Given the description of an element on the screen output the (x, y) to click on. 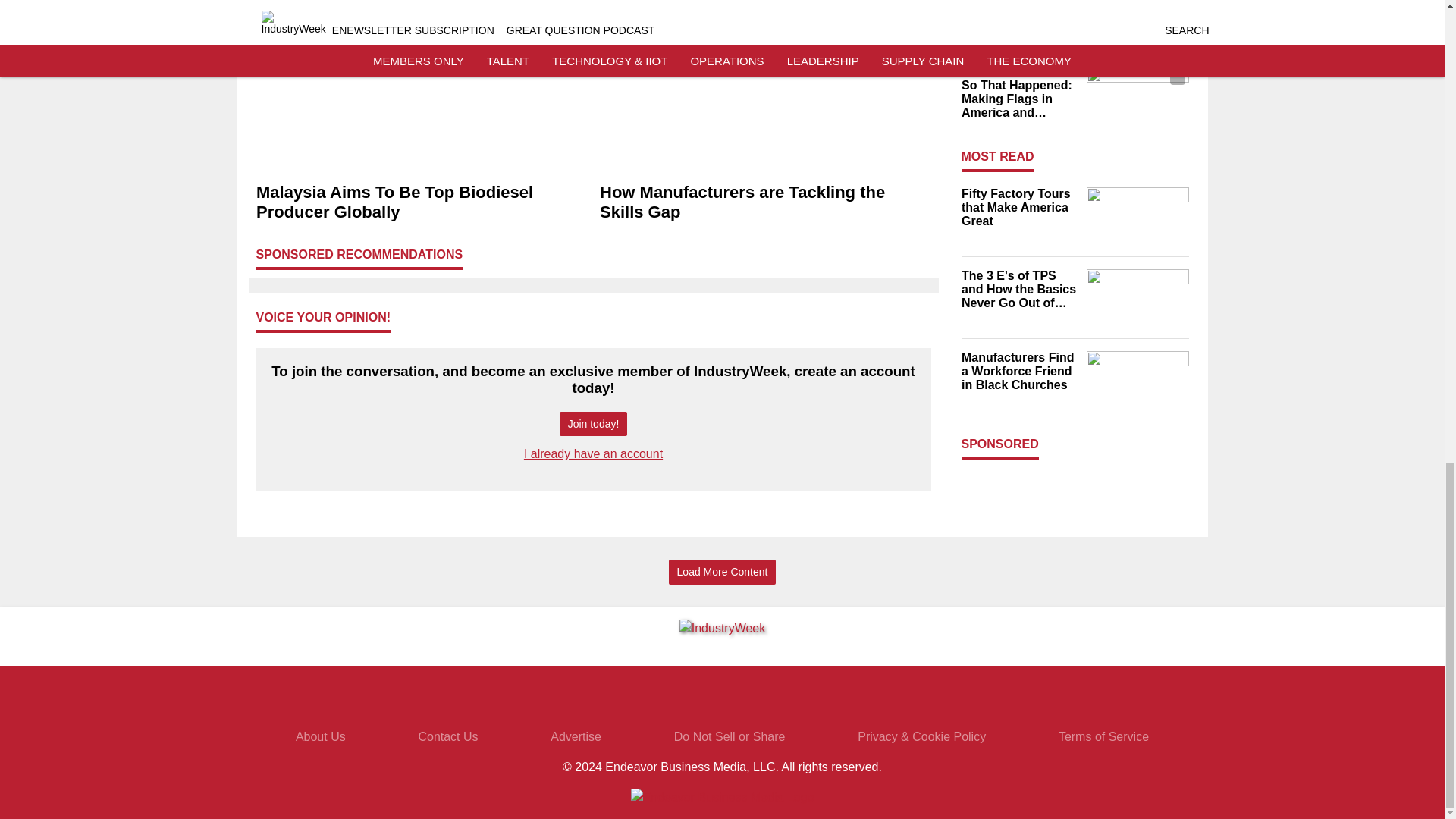
Malaysia Aims To Be Top Biodiesel Producer Globally (422, 201)
How Manufacturers are Tackling the Skills Gap (764, 201)
Reshoring Takes Hold Across Multiple Industries (1019, 13)
Join today! (593, 423)
I already have an account (593, 453)
